Given the description of an element on the screen output the (x, y) to click on. 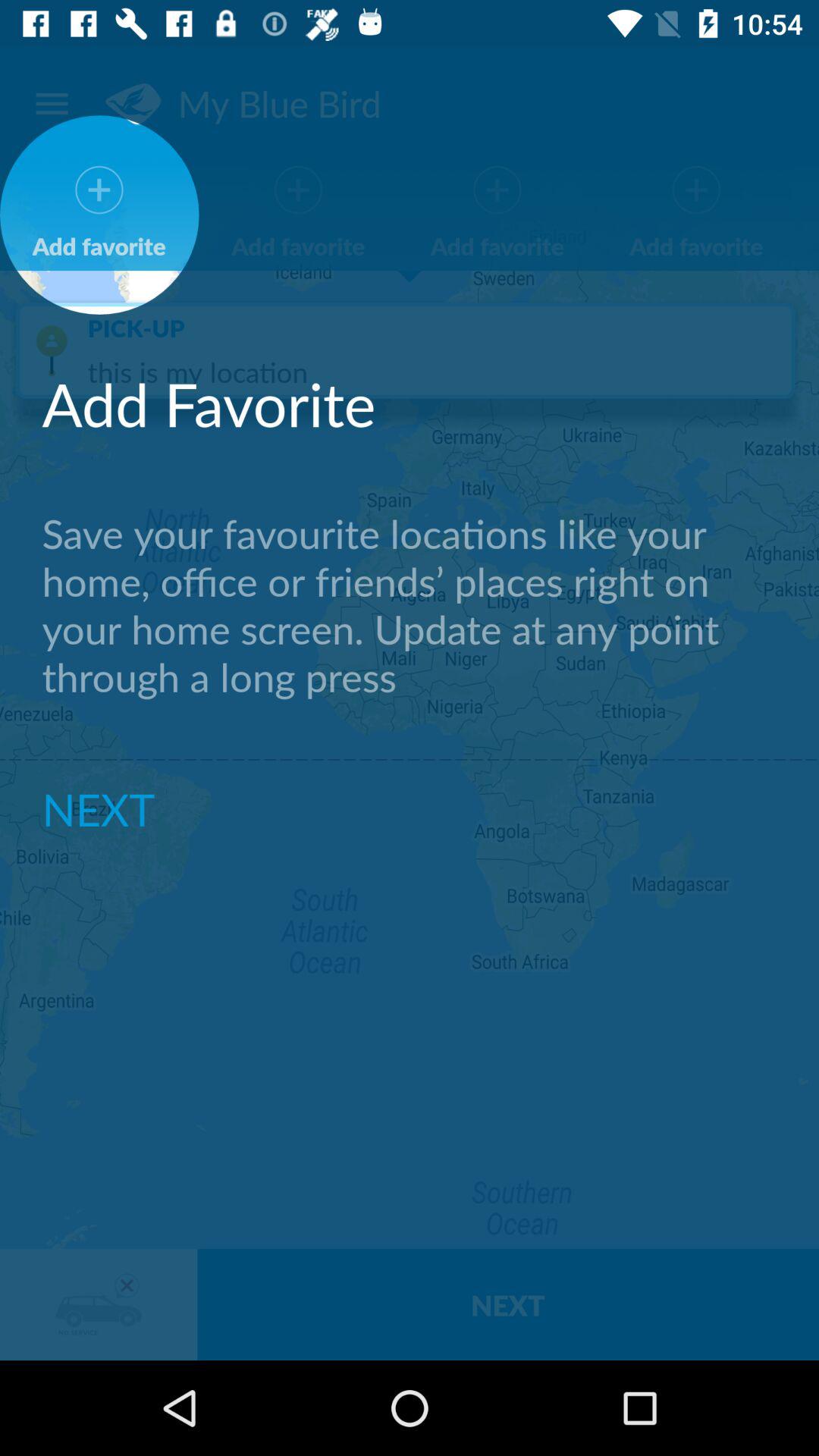
select plus symbol (298, 189)
